Given the description of an element on the screen output the (x, y) to click on. 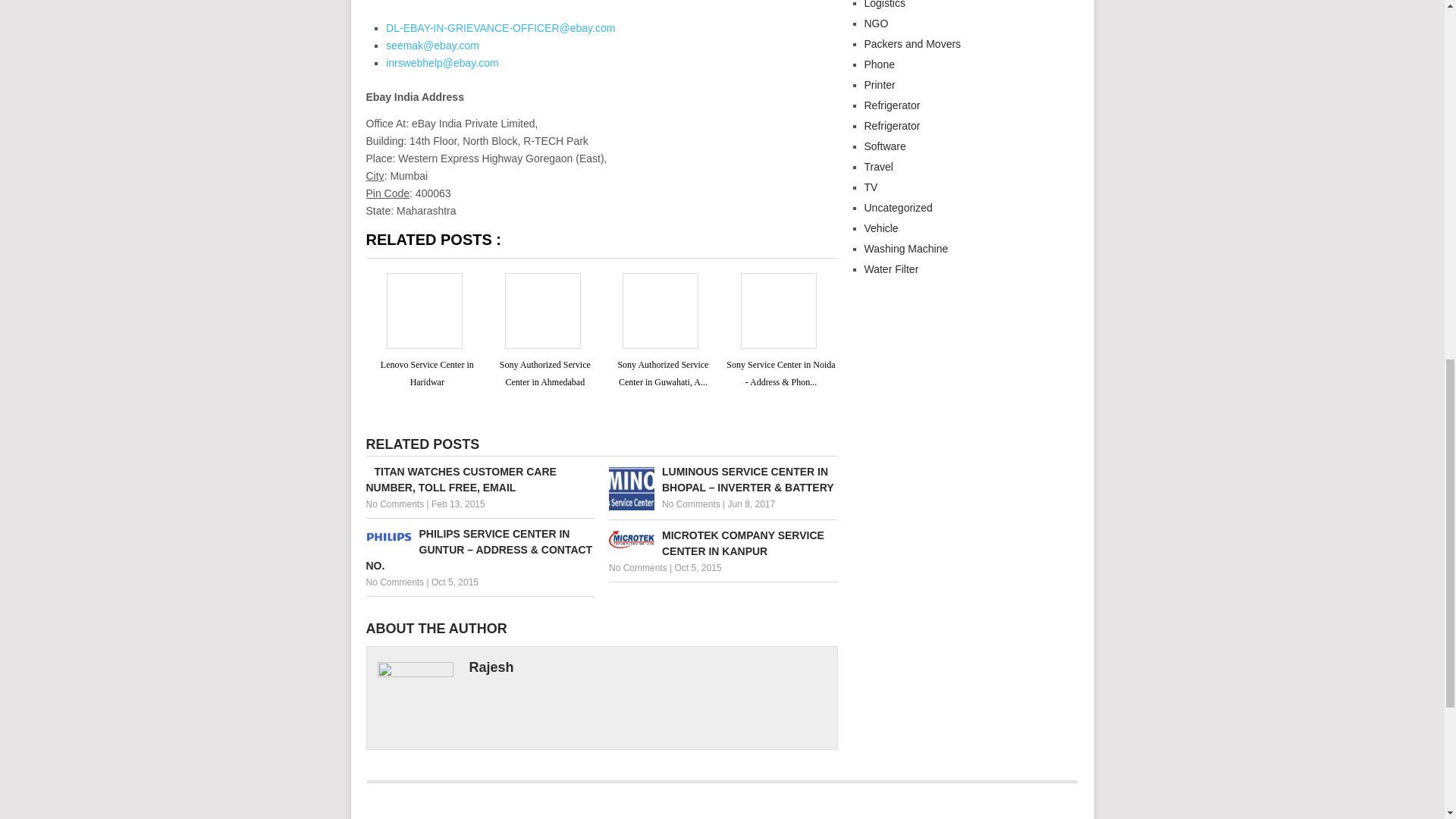
Titan Watches Customer Care Number, Toll Free, Email (479, 480)
Sony Authorized Service Center in Ahmedabad (545, 373)
No Comments (394, 503)
Sony Authorized Service Center in Ahmedabad (540, 811)
No Comments (691, 503)
Lenovo Service Center in Haridwar (419, 811)
Microtek Company Service Center in Kanpur (723, 543)
Lenovo Service Center in Haridwar (427, 373)
TITAN WATCHES CUSTOMER CARE NUMBER, TOLL FREE, EMAIL (479, 480)
Sony Authorized Service Center in Guwahati, A... (662, 373)
